Given the description of an element on the screen output the (x, y) to click on. 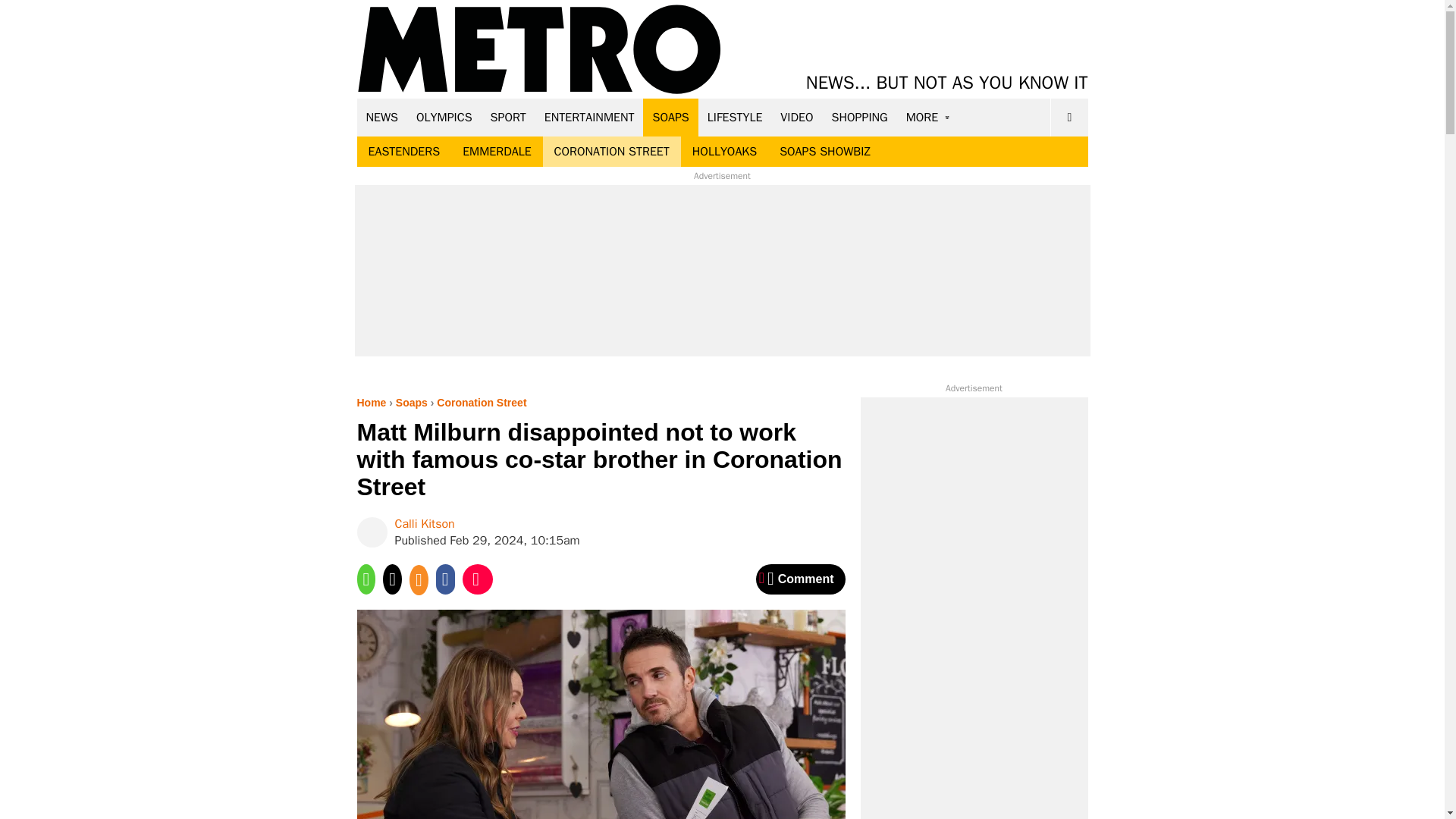
LIFESTYLE (734, 117)
NEWS (381, 117)
SOAPS (670, 117)
HOLLYOAKS (724, 151)
CORONATION STREET (612, 151)
Metro (539, 50)
OLYMPICS (444, 117)
EASTENDERS (403, 151)
SOAPS SHOWBIZ (825, 151)
SPORT (508, 117)
ENTERTAINMENT (589, 117)
EMMERDALE (496, 151)
